Given the description of an element on the screen output the (x, y) to click on. 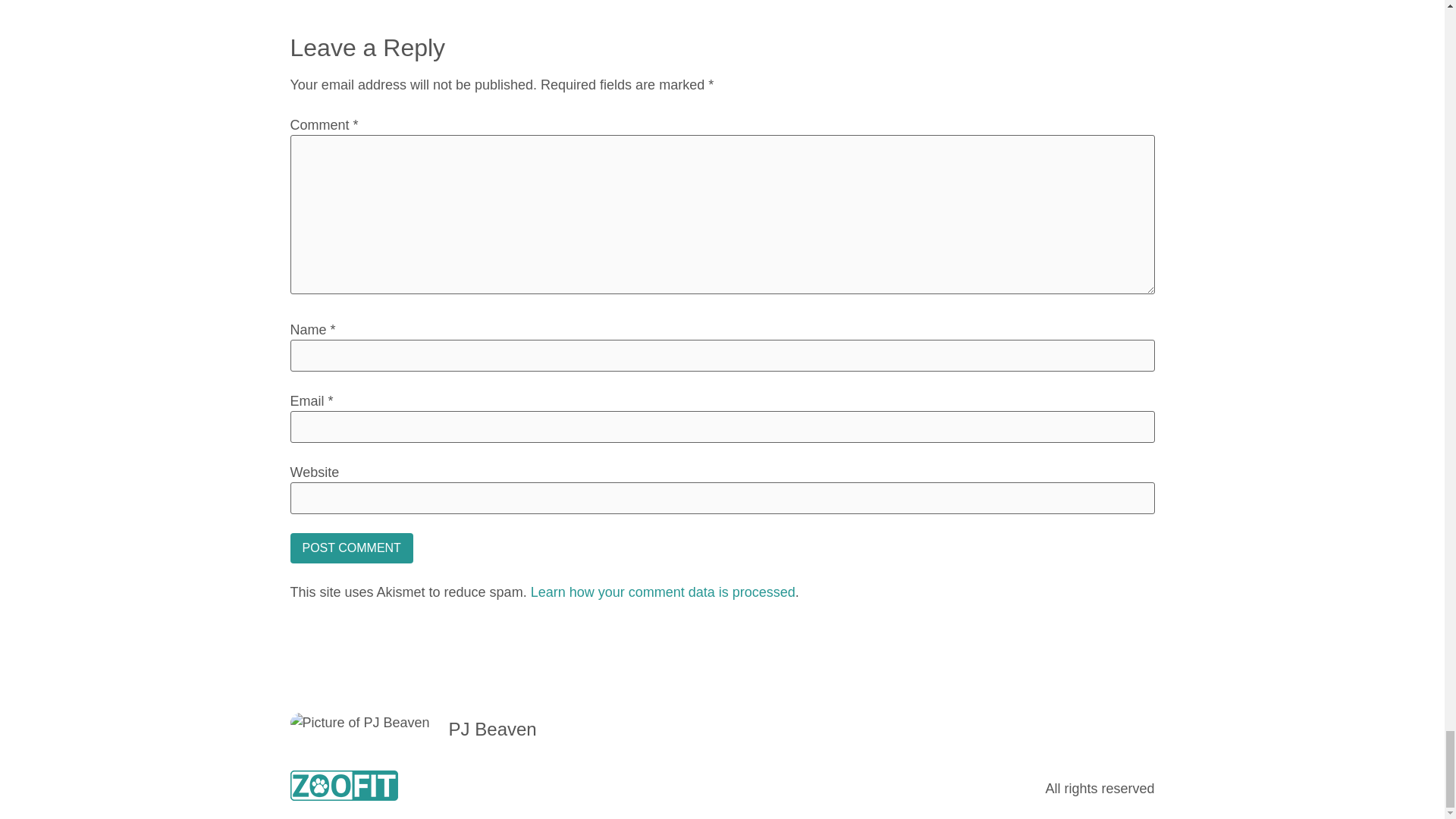
Learn how your comment data is processed (662, 591)
Post Comment (350, 548)
Post Comment (350, 548)
